Given the description of an element on the screen output the (x, y) to click on. 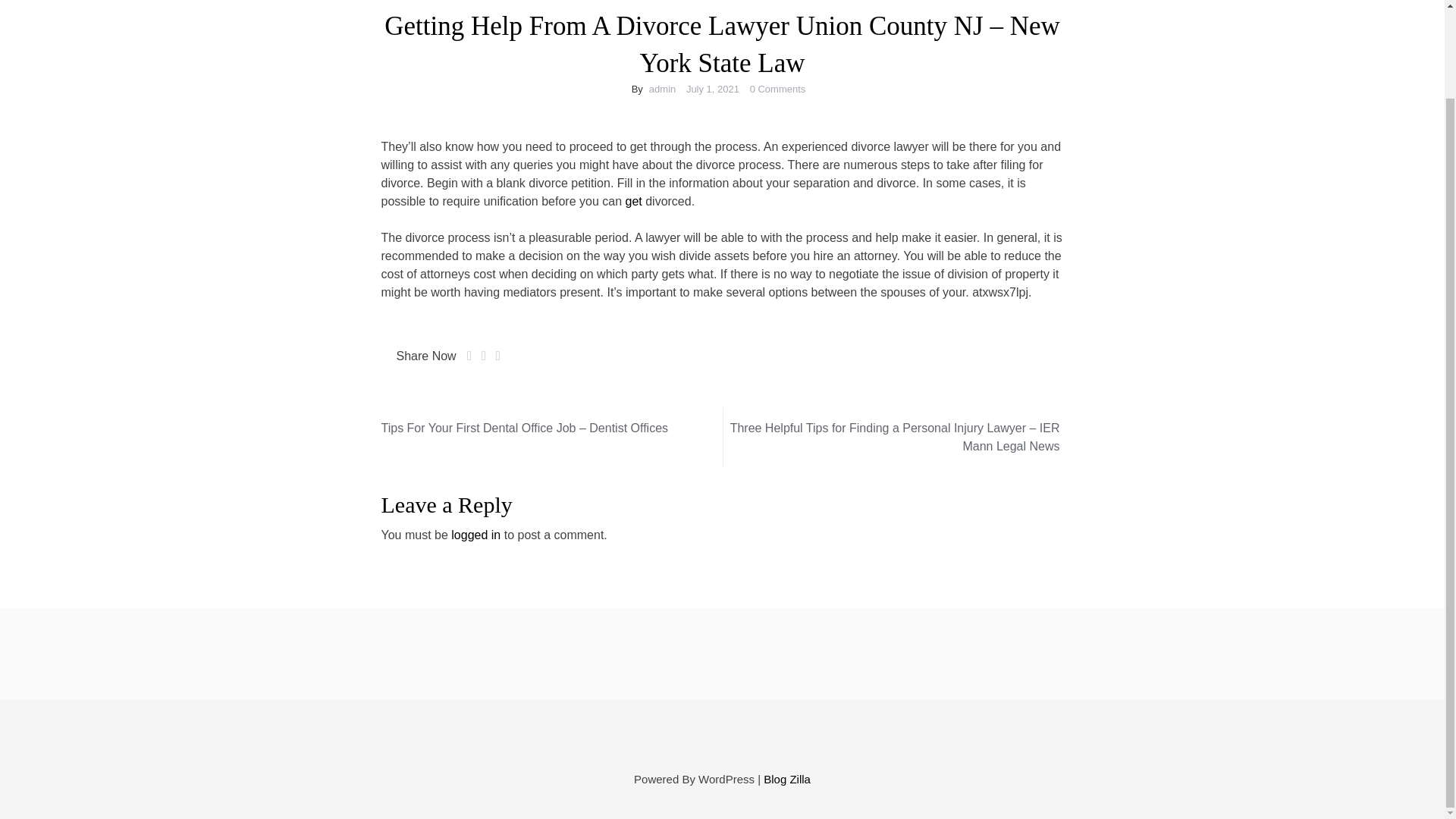
logged in (475, 534)
0 Comments (777, 89)
Blog Zilla (786, 779)
admin (662, 89)
get (633, 201)
July 1, 2021 (712, 89)
